Given the description of an element on the screen output the (x, y) to click on. 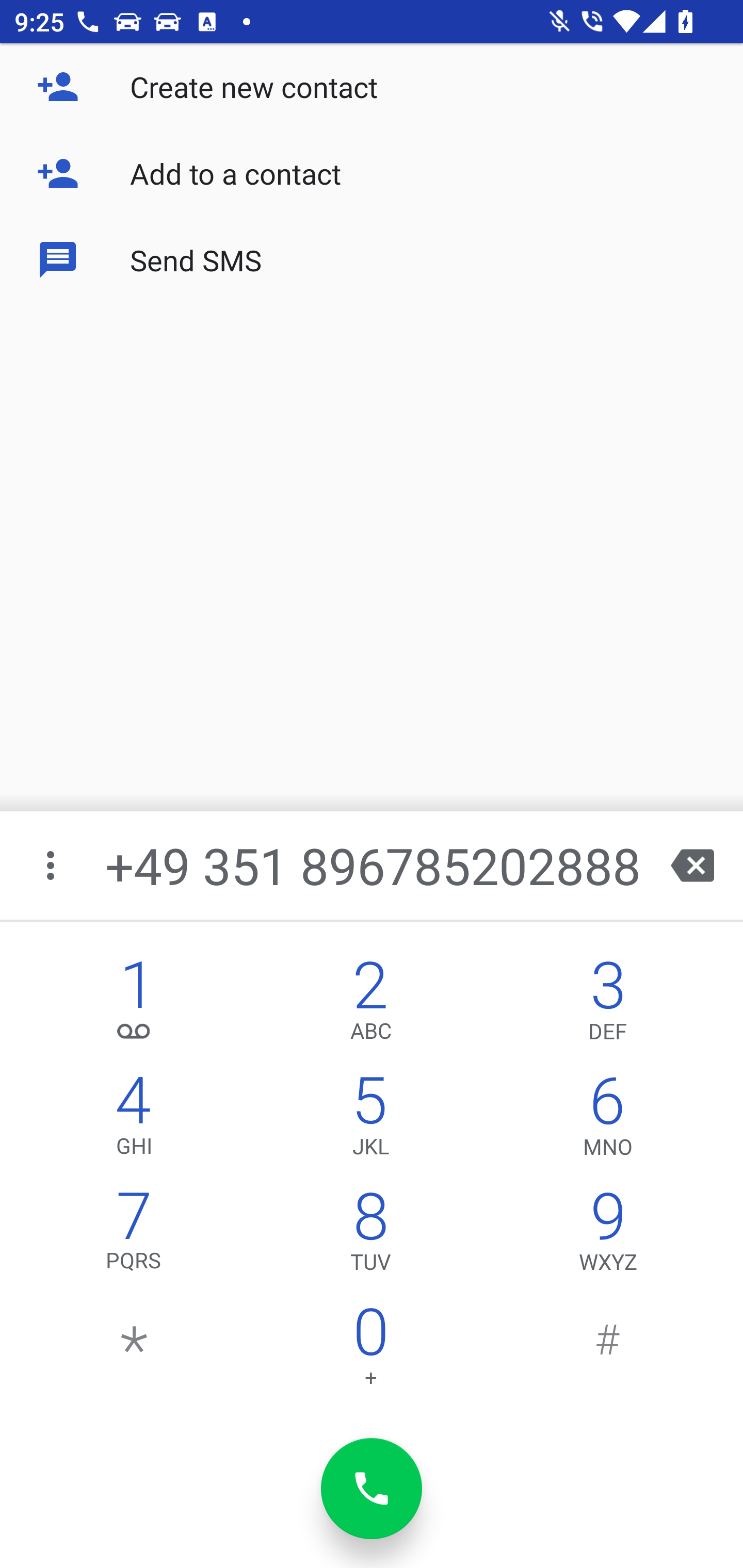
Create new contact (371, 86)
Add to a contact (371, 173)
Send SMS (371, 259)
+49 351 896785202888 (372, 865)
backspace (692, 865)
More options (52, 865)
1, 1 (133, 1005)
2,ABC 2 ABC (370, 1005)
3,DEF 3 DEF (607, 1005)
4,GHI 4 GHI (133, 1120)
5,JKL 5 JKL (370, 1120)
6,MNO 6 MNO (607, 1120)
7,PQRS 7 PQRS (133, 1235)
8,TUV 8 TUV (370, 1235)
9,WXYZ 9 WXYZ (607, 1235)
* (133, 1351)
0 0 + (370, 1351)
# (607, 1351)
dial (371, 1488)
